Given the description of an element on the screen output the (x, y) to click on. 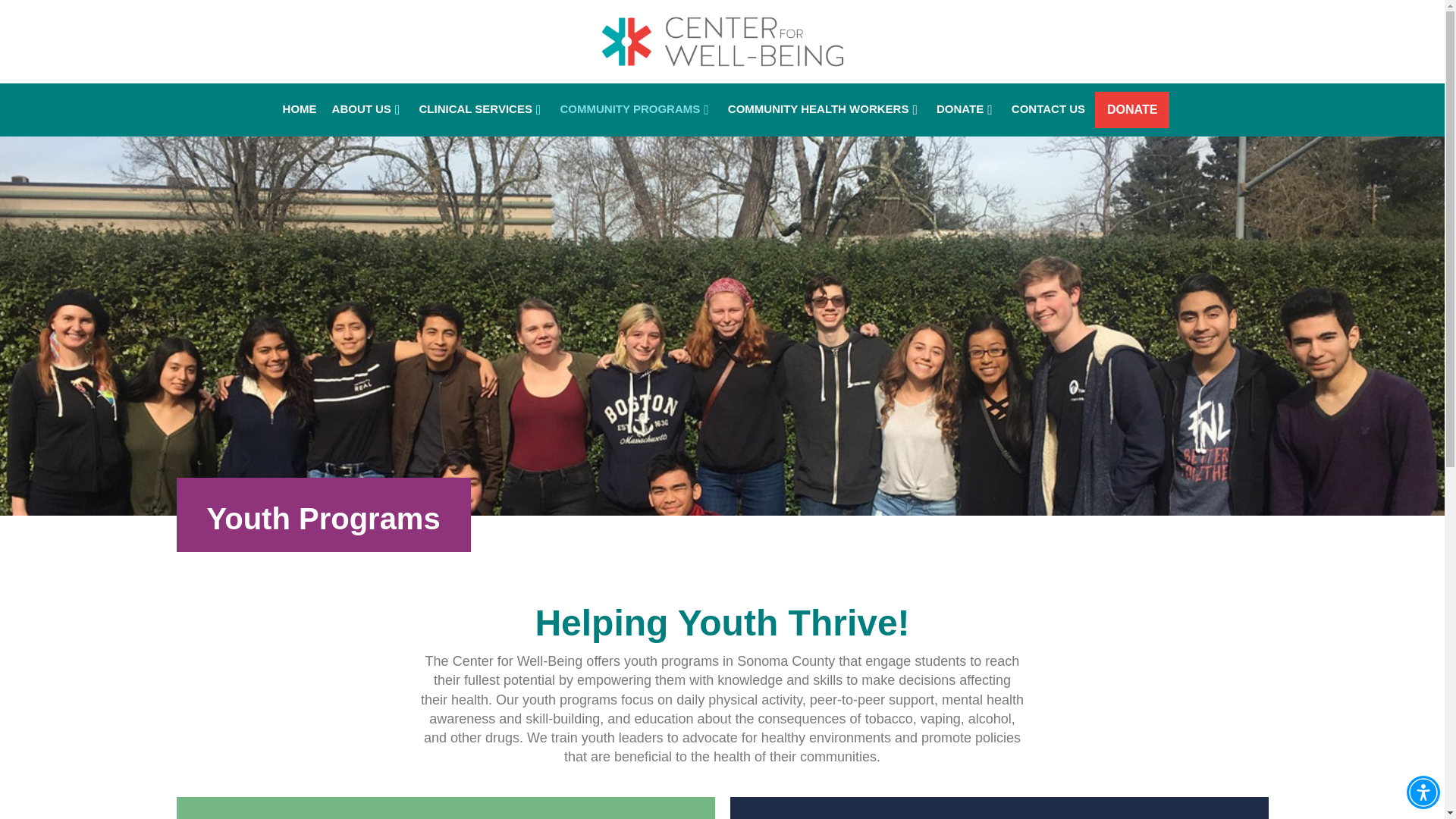
DONATE (966, 109)
COMMUNITY HEALTH WORKERS (824, 109)
ABOUT US (368, 109)
HOME (299, 109)
DONATE (1131, 109)
CONTACT US (1048, 109)
CLINICAL SERVICES (480, 109)
COMMUNITY PROGRAMS (636, 109)
Accessibility Menu (1422, 792)
